Given the description of an element on the screen output the (x, y) to click on. 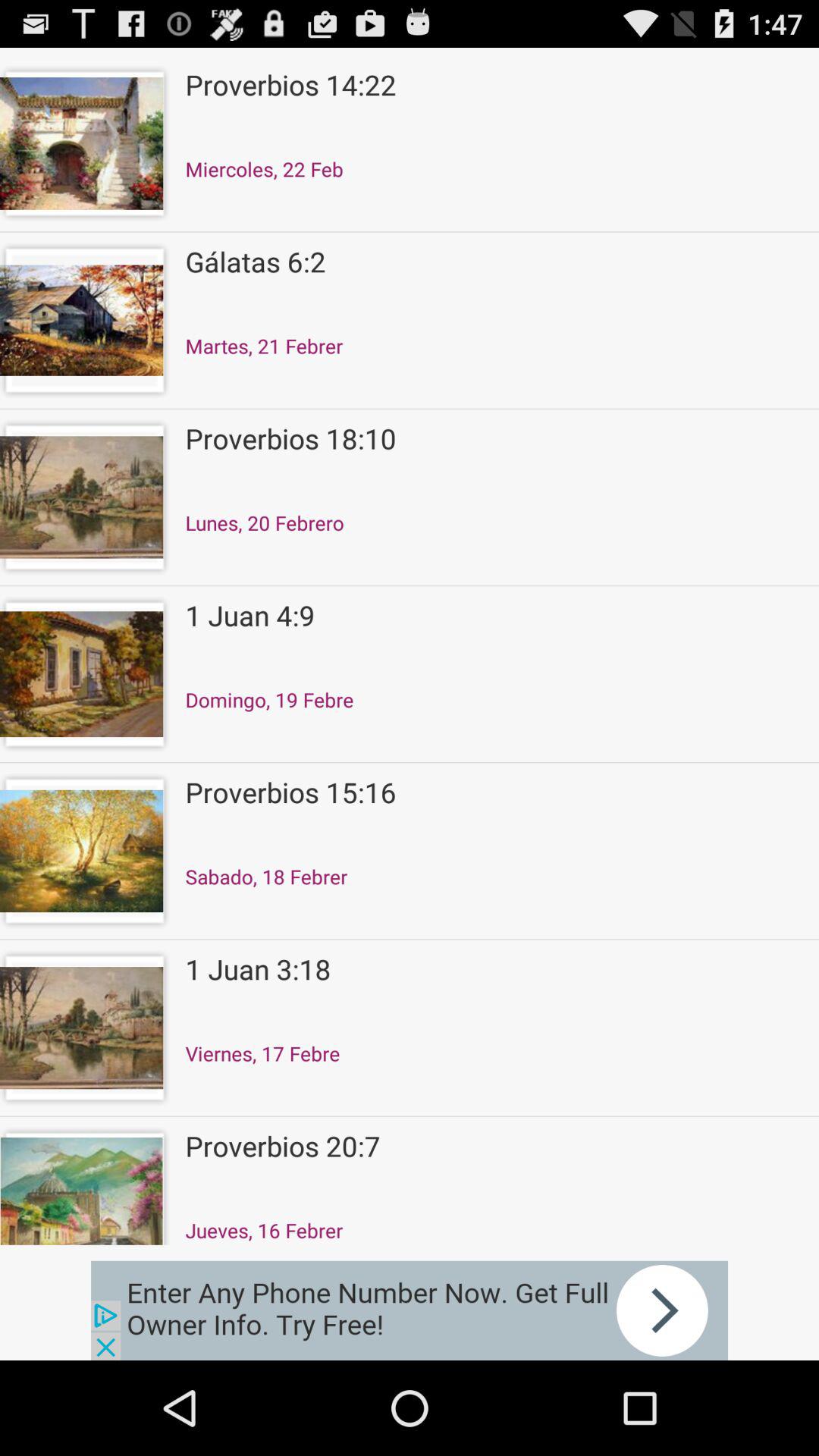
advertisement banner (409, 1310)
